Given the description of an element on the screen output the (x, y) to click on. 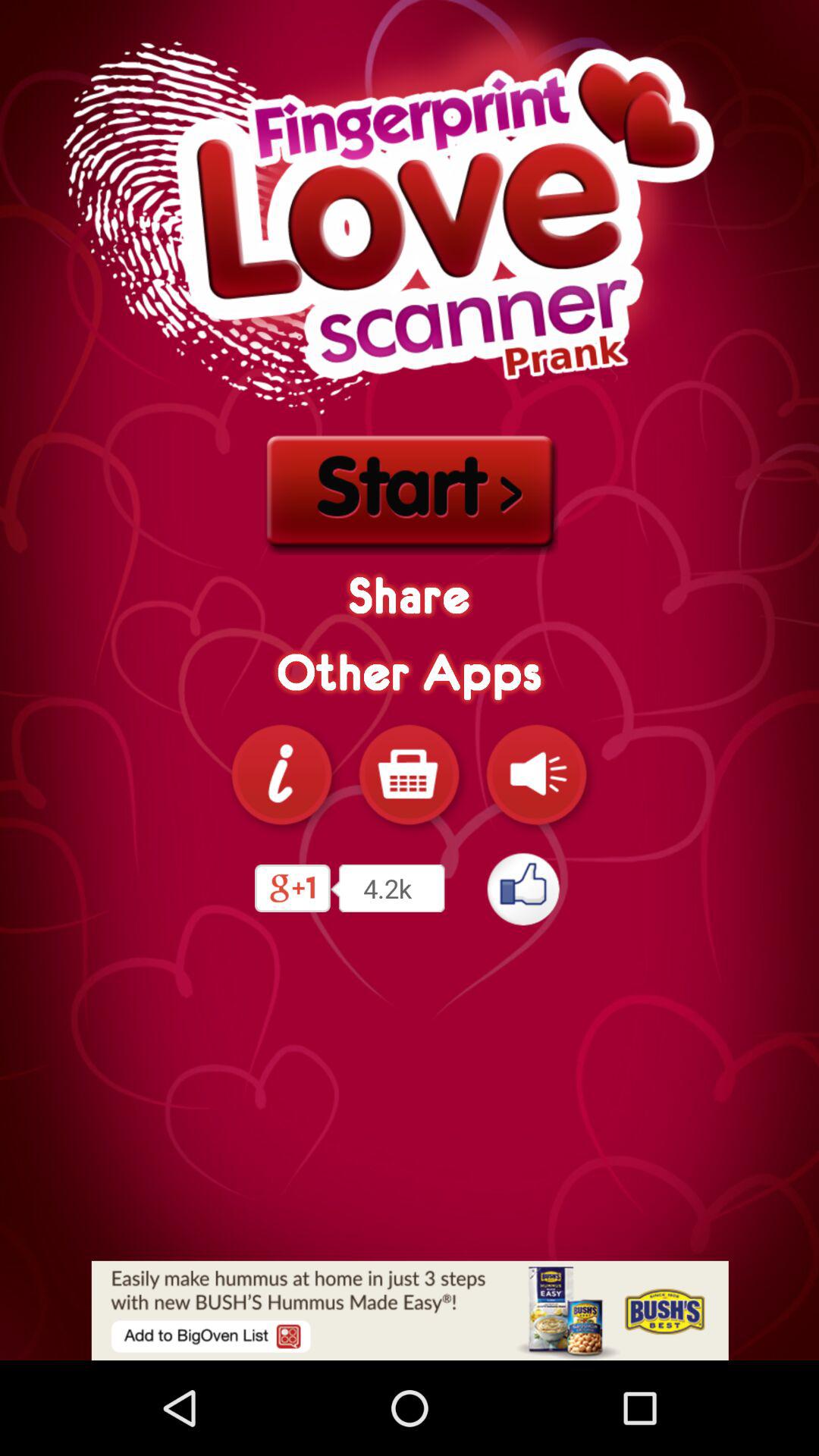
view more information (281, 774)
